Given the description of an element on the screen output the (x, y) to click on. 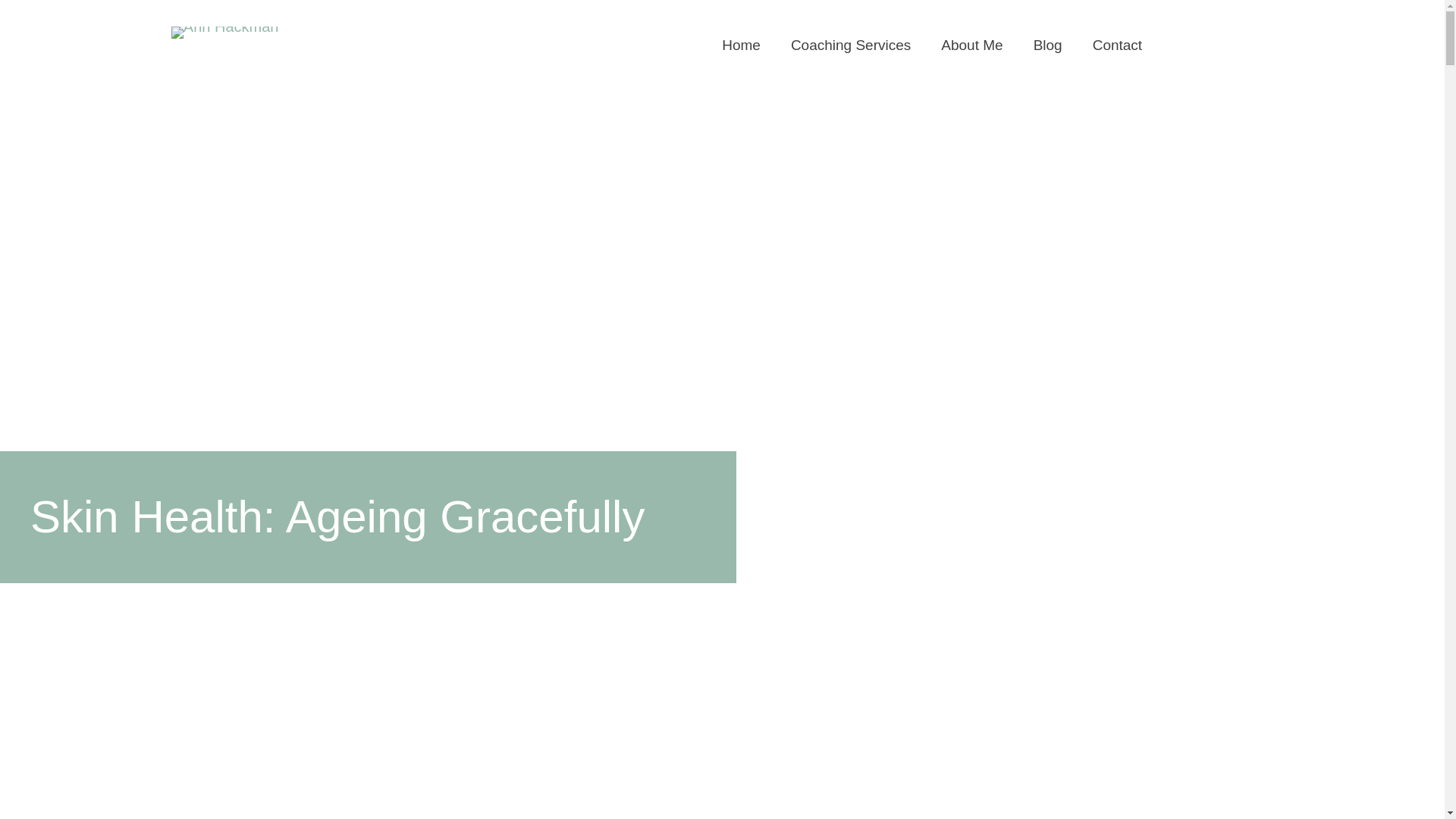
About Me (971, 44)
Coaching Services (850, 44)
Blog (1047, 44)
Contact (1117, 44)
Home (741, 44)
